Given the description of an element on the screen output the (x, y) to click on. 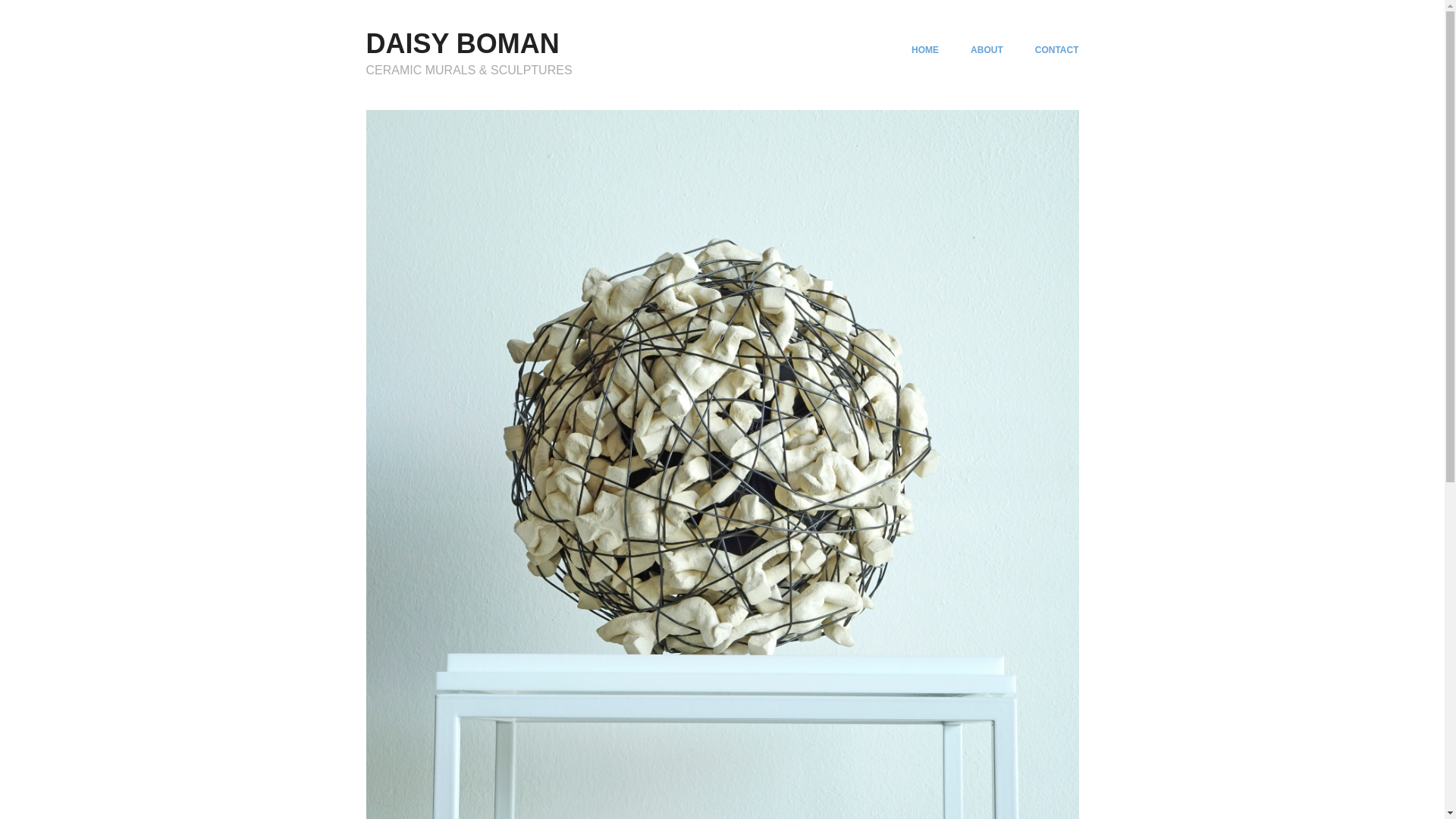
HOME Element type: text (924, 49)
CONTACT Element type: text (1057, 49)
ABOUT Element type: text (986, 49)
DAISY BOMAN Element type: text (461, 43)
